Given the description of an element on the screen output the (x, y) to click on. 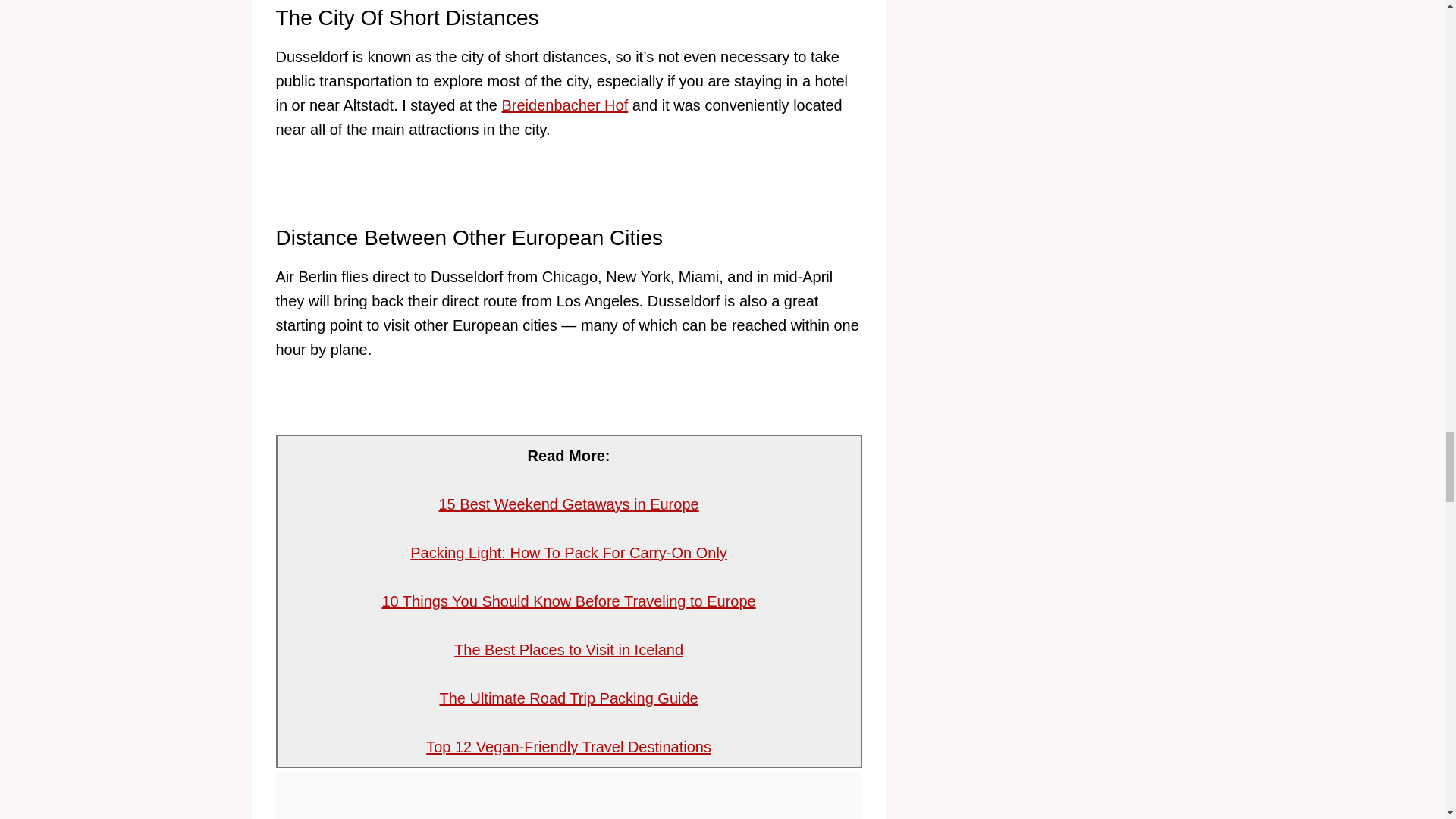
Packing Light: How To Pack For Carry-On Only (568, 552)
Top 12 Vegan-Friendly Travel Destinations (568, 746)
The Ultimate Road Trip Packing Guide (568, 698)
10 Things You Should Know Before Traveling to Europe (568, 600)
15 Best Weekend Getaways in Europe (568, 504)
Breidenbacher Hof (563, 105)
The Best Places to Visit in Iceland (568, 649)
